Given the description of an element on the screen output the (x, y) to click on. 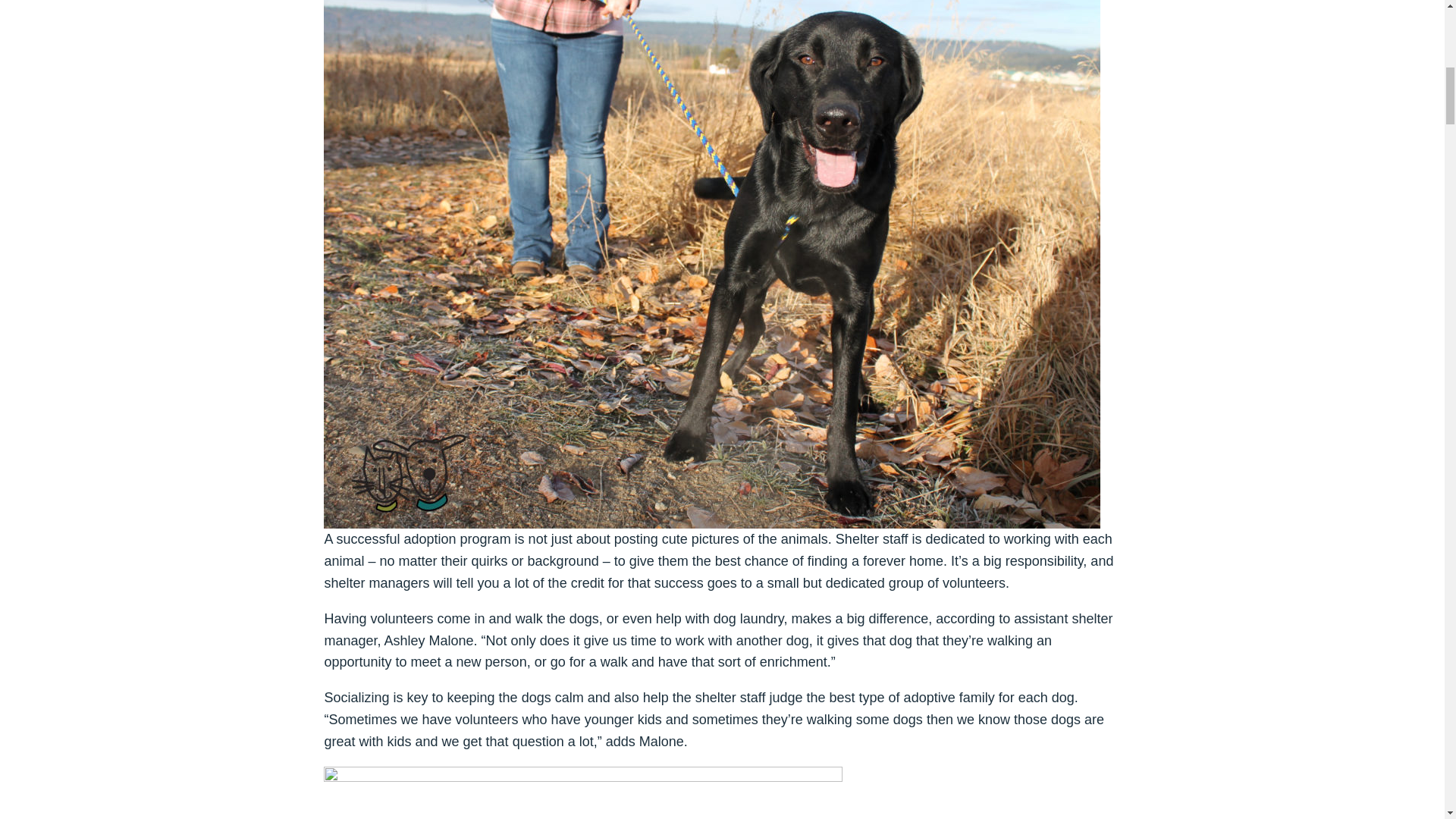
Join the Chamber (918, 18)
Join the Chamber (919, 18)
Newsletter (1240, 18)
Member Center (1038, 18)
Lifestyle (950, 83)
McCall Chamber (91, 83)
Things To Do (753, 83)
Search (1342, 18)
Contact (1142, 18)
